Given the description of an element on the screen output the (x, y) to click on. 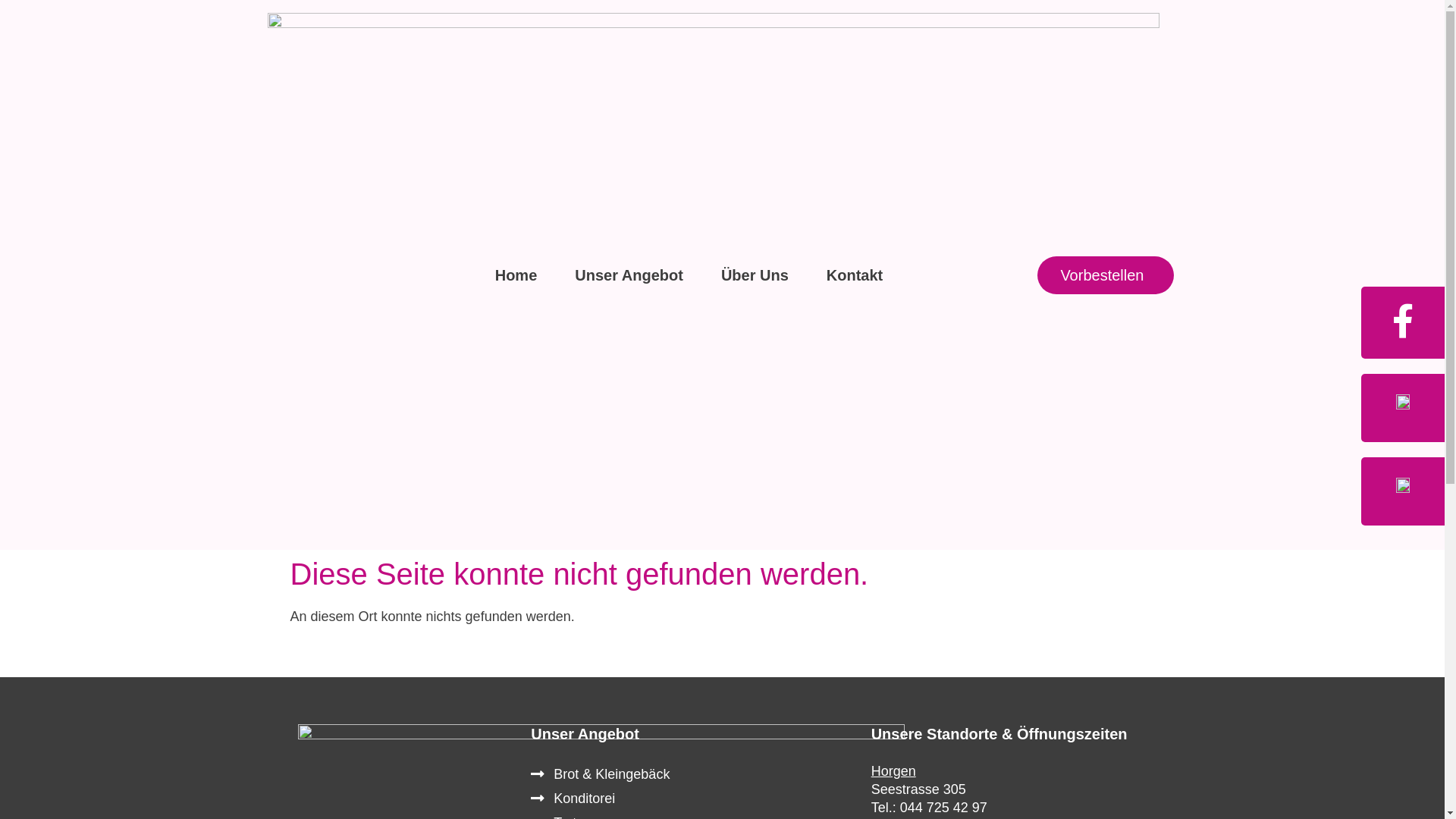
Kontakt Element type: text (854, 274)
Vorbestellen Element type: text (1105, 275)
Konditorei Element type: text (692, 798)
Home Element type: text (516, 274)
Unser Angebot Element type: text (628, 274)
